Given the description of an element on the screen output the (x, y) to click on. 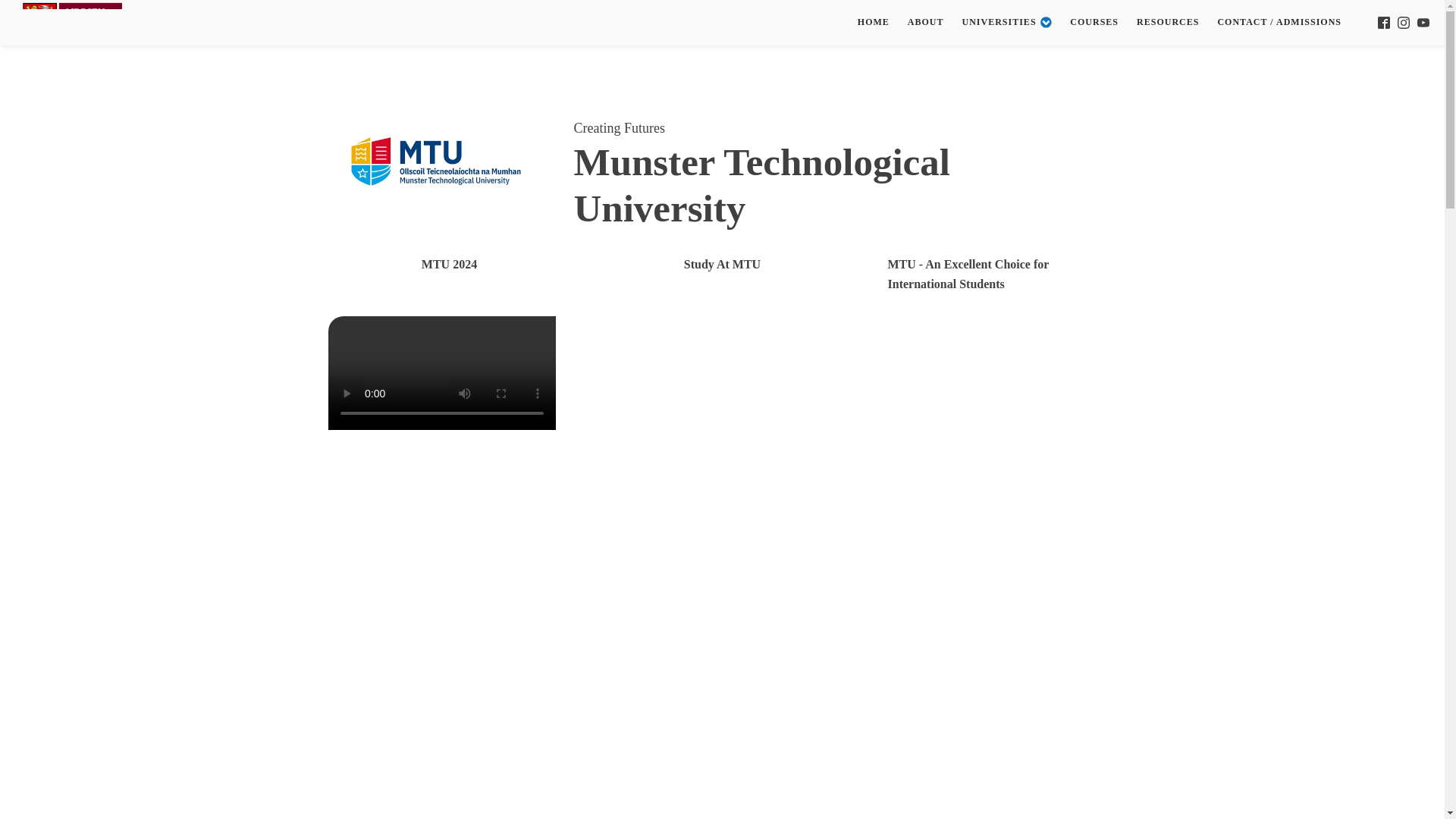
RESOURCES (1167, 22)
COURSES (1093, 22)
UNIVERSITIES (1007, 22)
HOME (873, 22)
ABOUT (925, 22)
